Given the description of an element on the screen output the (x, y) to click on. 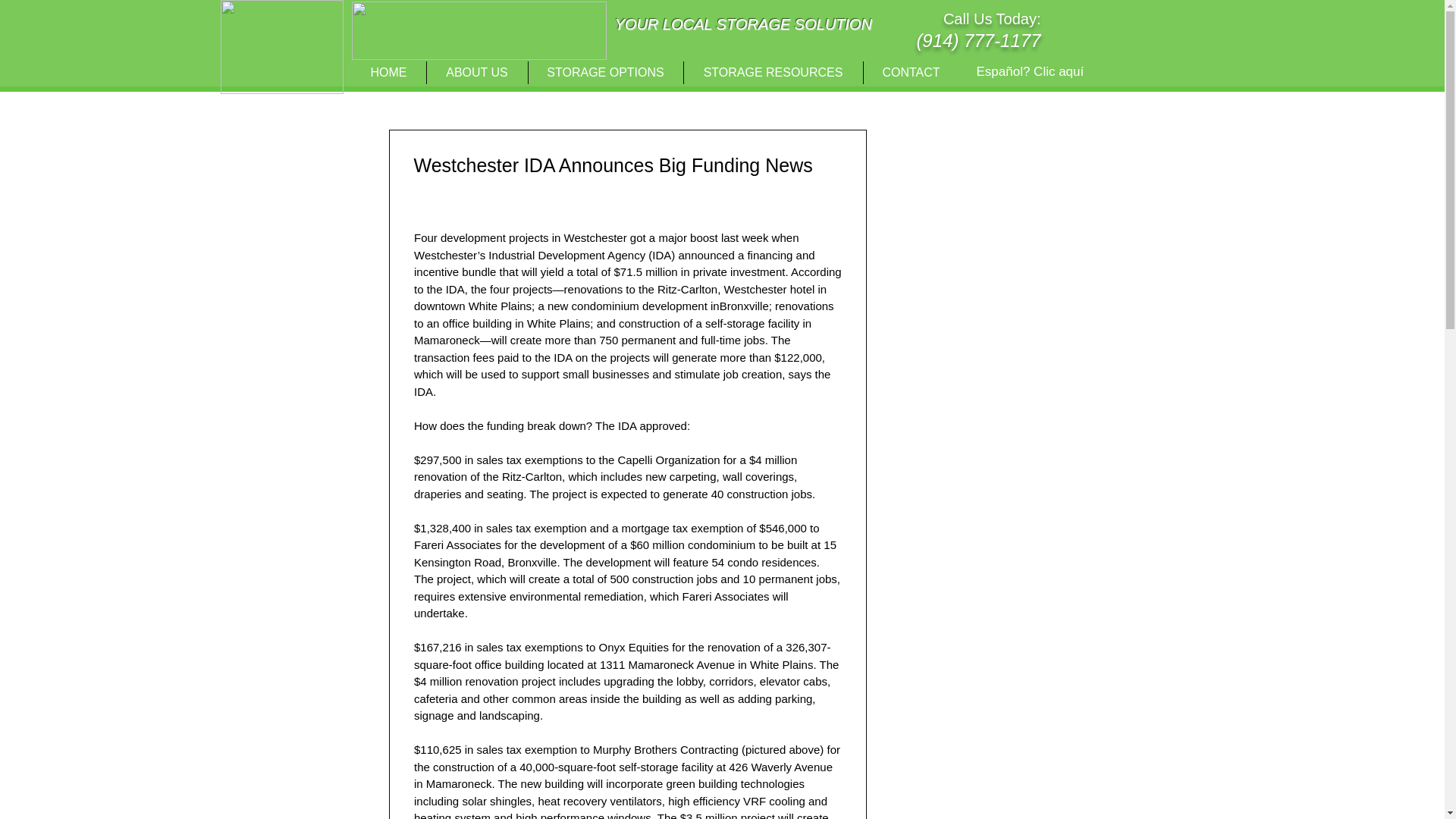
ABOUT US (476, 72)
CONTACT (910, 72)
HOME (389, 72)
STORAGE RESOURCES (773, 72)
STORAGE OPTIONS (604, 72)
